Given the description of an element on the screen output the (x, y) to click on. 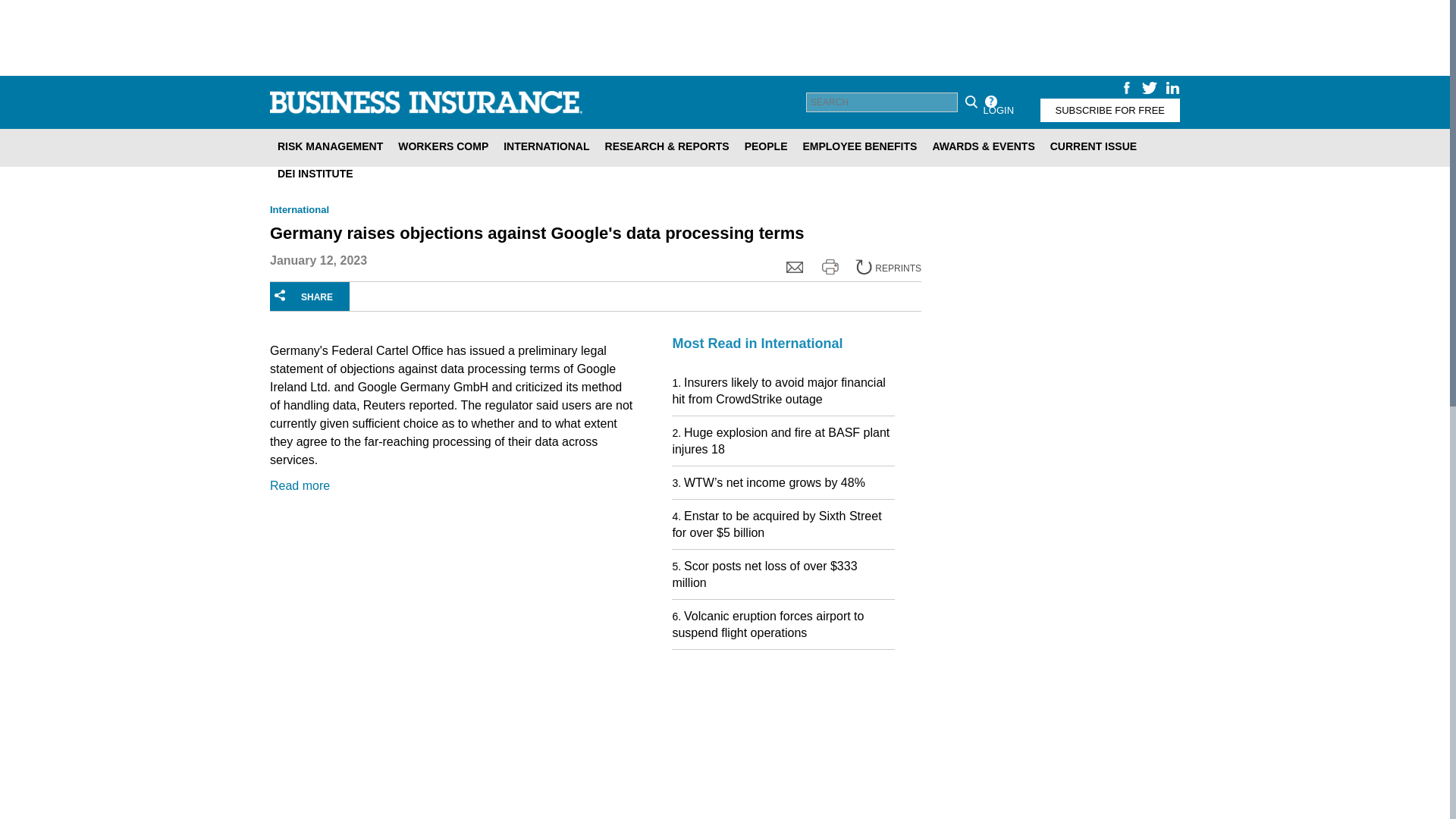
Help (990, 101)
WORKERS COMP (443, 145)
SUBSCRIBE FOR FREE (1110, 110)
LOGIN (998, 110)
INTERNATIONAL (546, 145)
PEOPLE (765, 145)
RISK MANAGEMENT (329, 145)
